Given the description of an element on the screen output the (x, y) to click on. 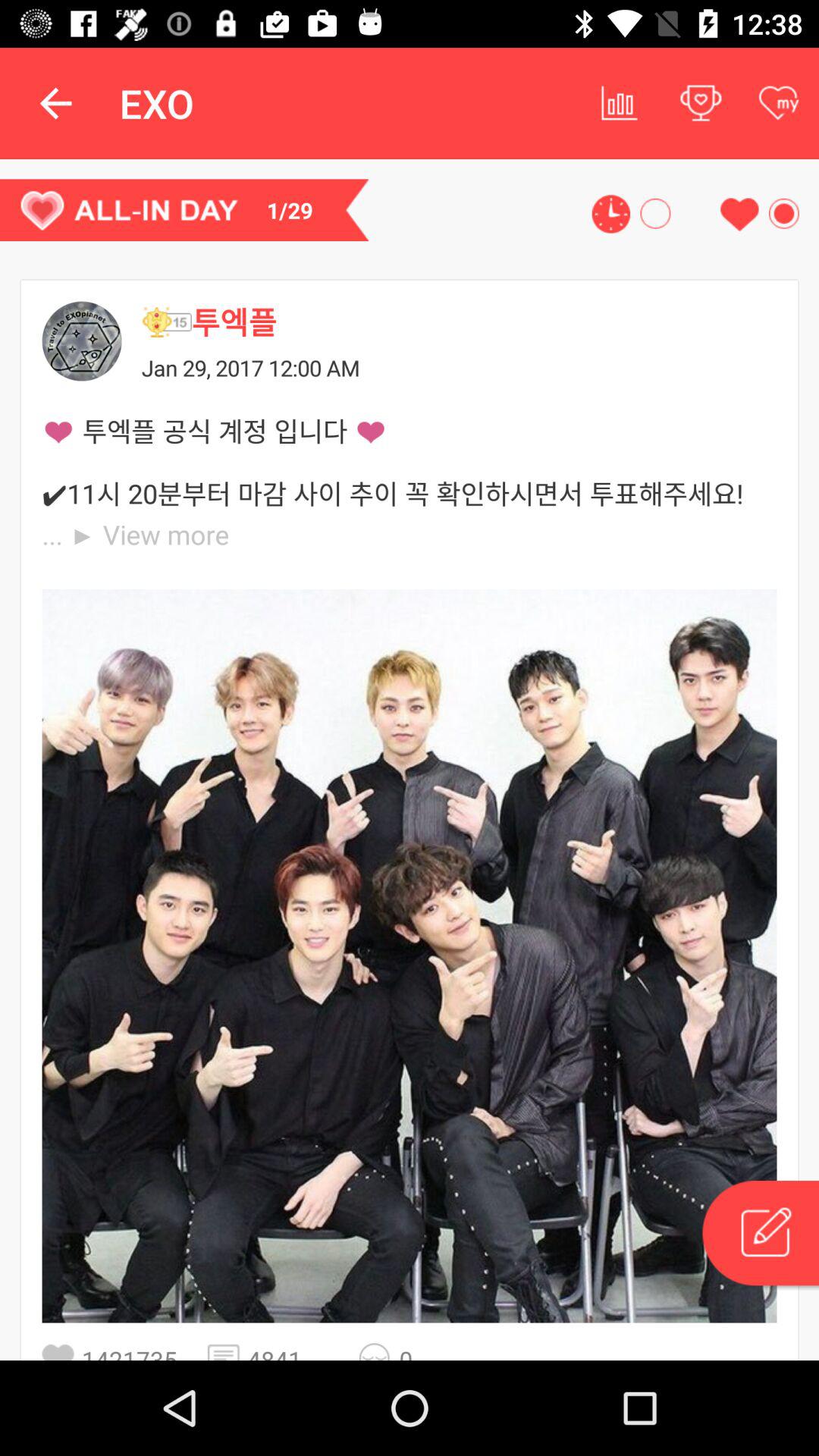
tap the item next to the 1421735 (227, 1351)
